Given the description of an element on the screen output the (x, y) to click on. 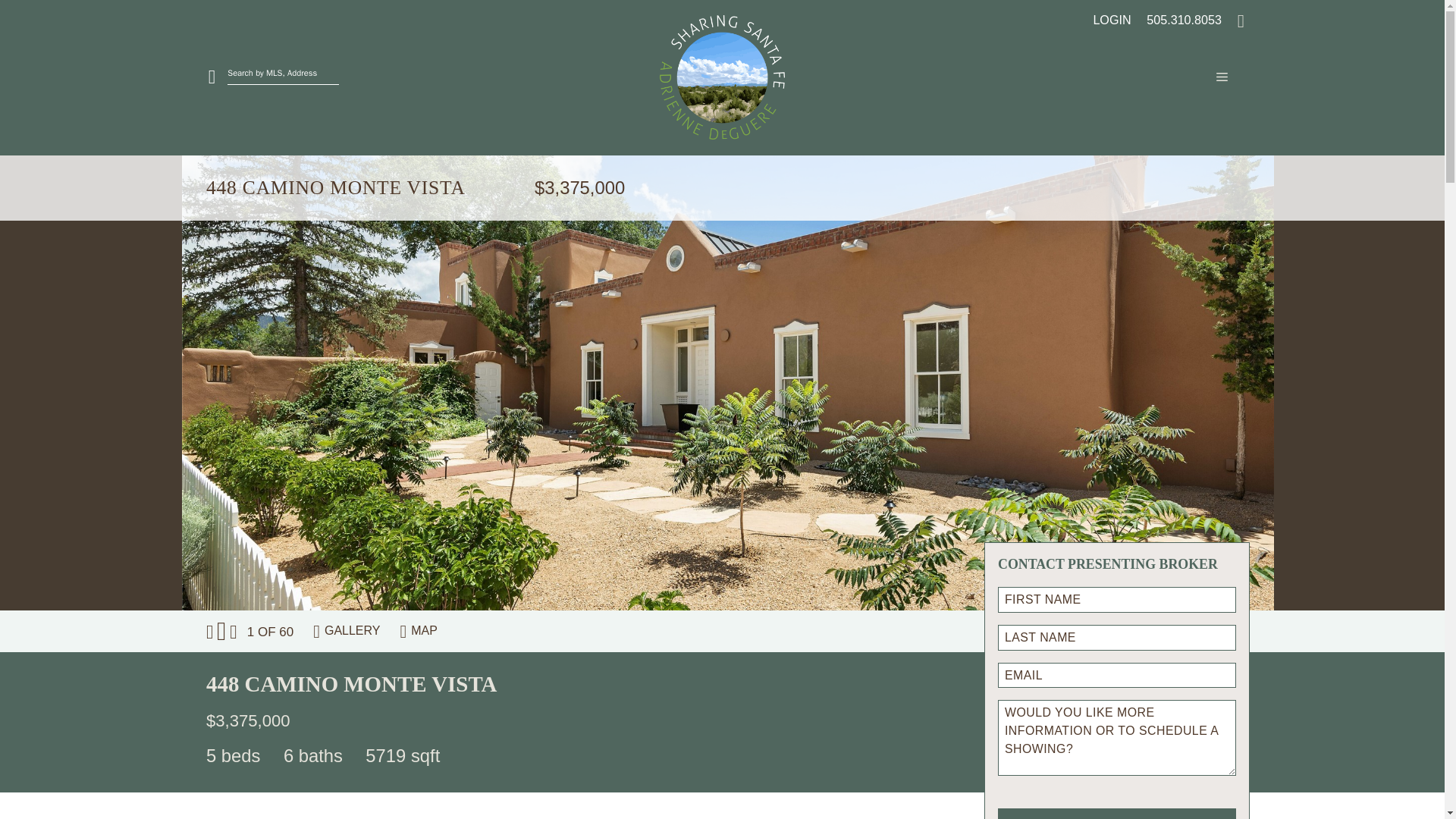
Contact Now (1116, 813)
GALLERY (352, 630)
MAP (424, 630)
LOGIN (1105, 18)
Menu (1173, 76)
505.310.8053 (1177, 18)
Contact Now (1116, 813)
Map of Property (424, 630)
